Given the description of an element on the screen output the (x, y) to click on. 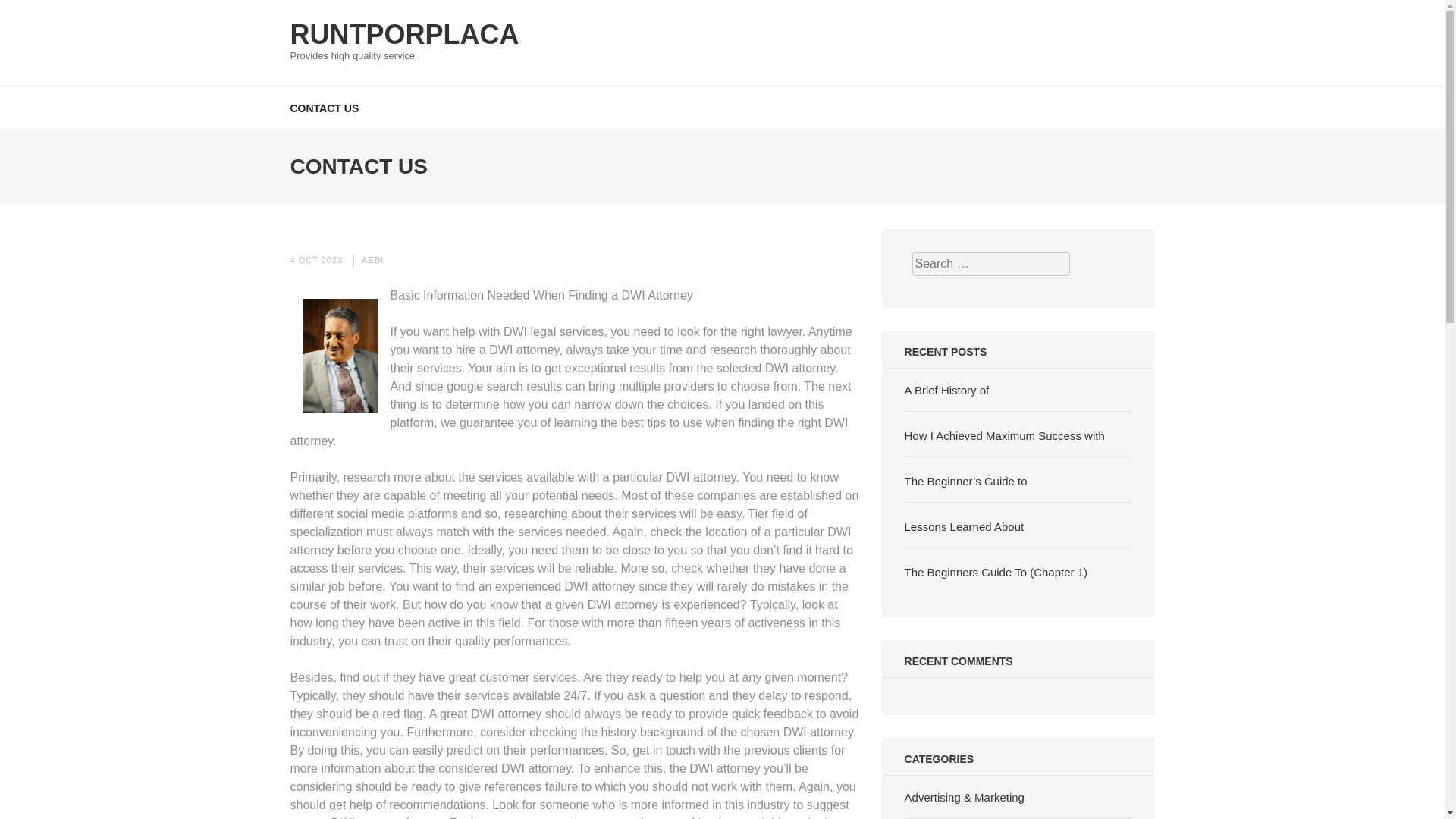
RUNTPORPLACA (403, 33)
Search (1428, 19)
Lessons Learned About (964, 526)
A Brief History of (947, 390)
CONTACT US (323, 108)
AEBI (372, 258)
4 OCT 2023 (315, 258)
How I Achieved Maximum Success with (1004, 435)
